Given the description of an element on the screen output the (x, y) to click on. 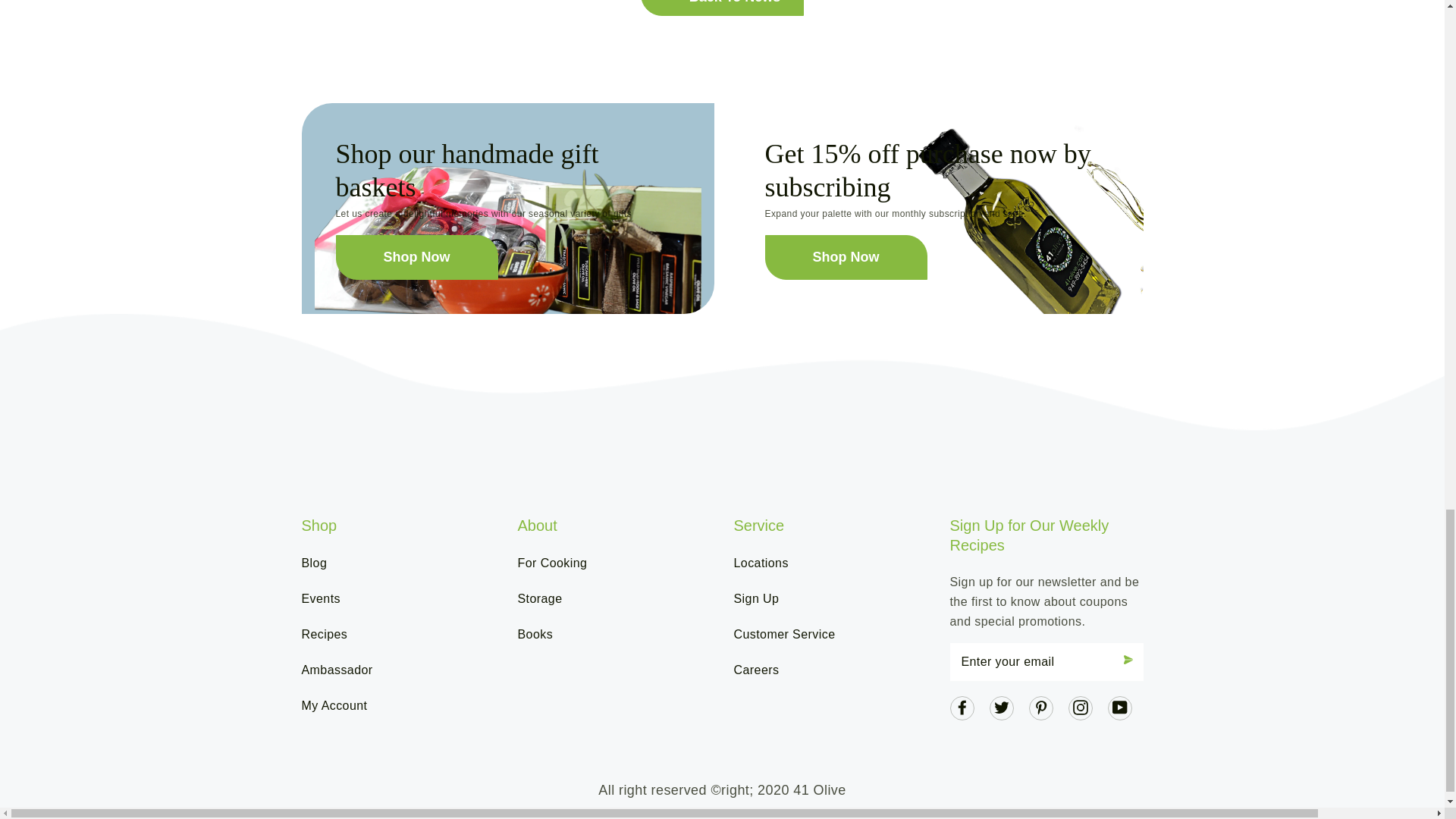
41 Olive on Twitter (1001, 707)
41 Olive on Instagram (1080, 707)
41 Olive on Pinterest (1040, 707)
41 Olive on YouTube (1119, 707)
41 Olive on Facebook (961, 707)
